Given the description of an element on the screen output the (x, y) to click on. 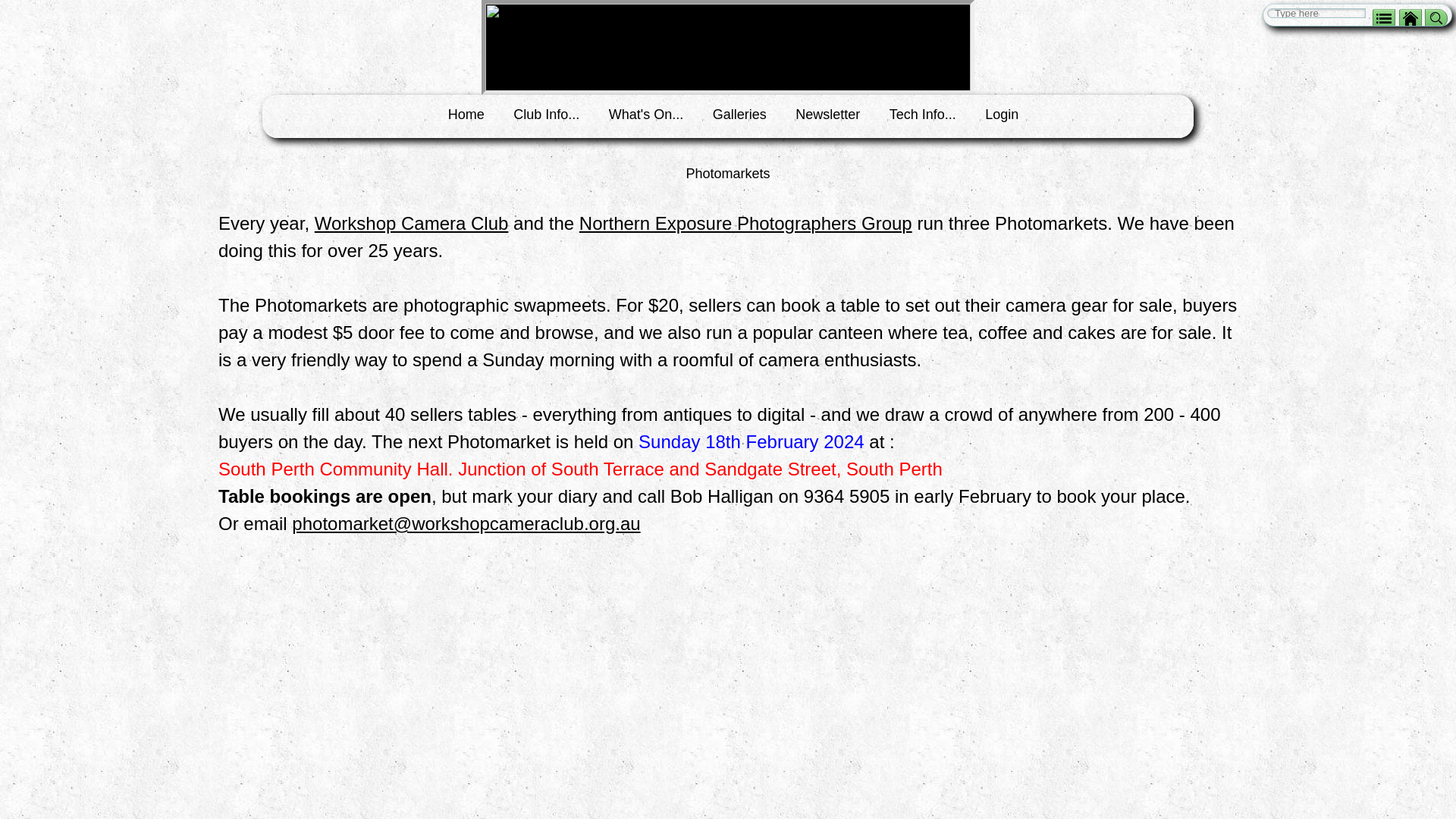
photomarket@workshopcameraclub.org.au Element type: text (465, 523)
Home Element type: text (465, 114)
Login Element type: text (1001, 114)
What's On... Element type: text (645, 114)
Go to My Menu Element type: hover (1383, 18)
Go to Home Page Element type: hover (1410, 18)
Northern Exposure Photographers Group Element type: text (745, 223)
Workshop Camera Club Element type: text (411, 223)
Newsletter Element type: text (827, 114)
Galleries Element type: text (739, 114)
Tech Info... Element type: text (922, 114)
Do the search Element type: hover (1435, 18)
Club Info... Element type: text (546, 114)
